Given the description of an element on the screen output the (x, y) to click on. 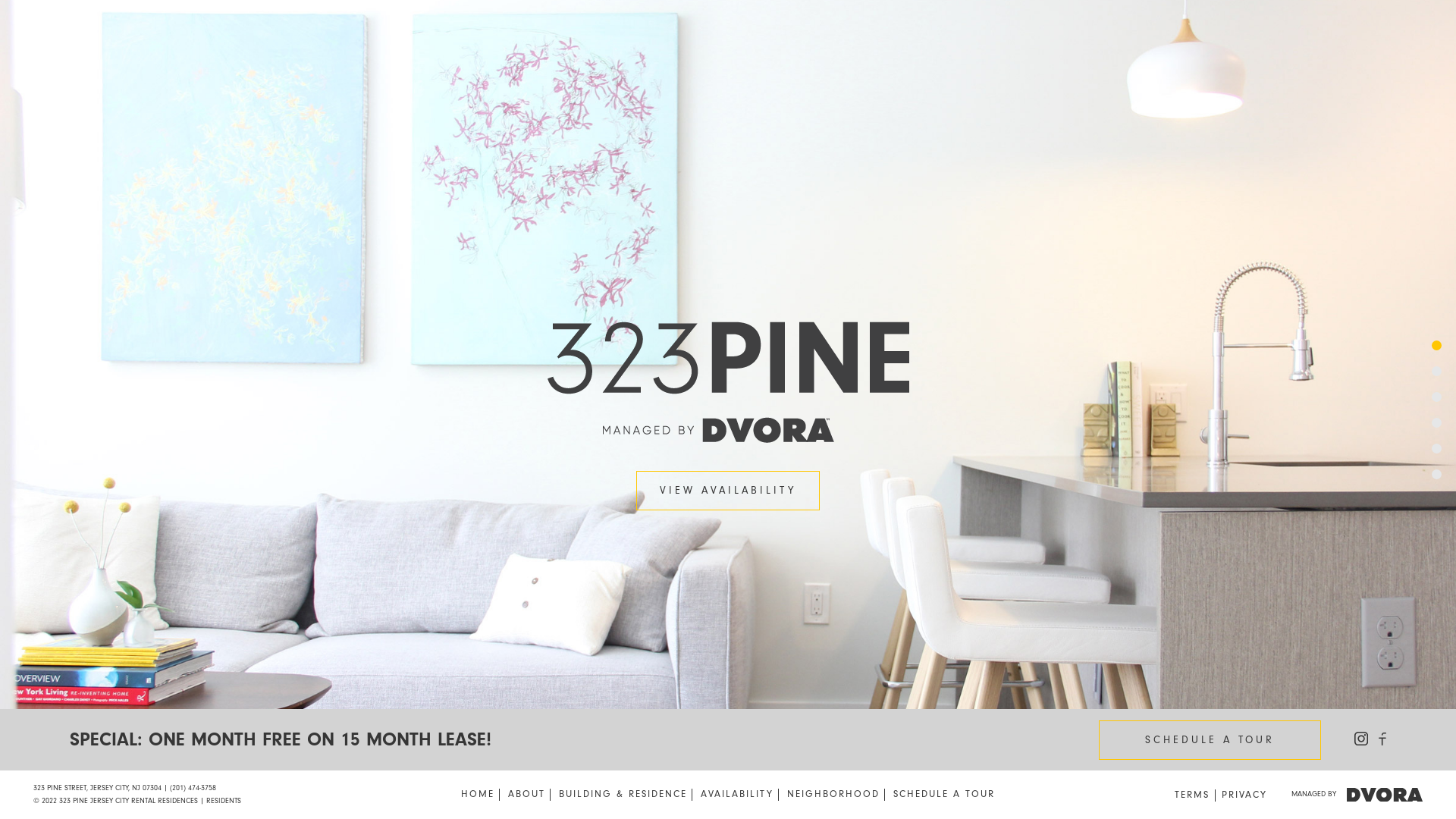
TERMS Element type: text (1191, 794)
AVAILABILITY Element type: text (736, 793)
MANAGED BY Element type: text (1356, 793)
(201) 474-3758 Element type: text (192, 787)
SCHEDULE A TOUR Element type: text (943, 793)
BUILDING & RESIDENCE Element type: text (622, 793)
VIEW AVAILABILITY Element type: text (727, 489)
PRIVACY Element type: text (1244, 794)
ABOUT Element type: text (526, 793)
RESIDENTS Element type: text (223, 800)
SCHEDULE A TOUR Element type: text (1209, 739)
HOME Element type: text (477, 793)
NEIGHBORHOOD Element type: text (833, 793)
